Given the description of an element on the screen output the (x, y) to click on. 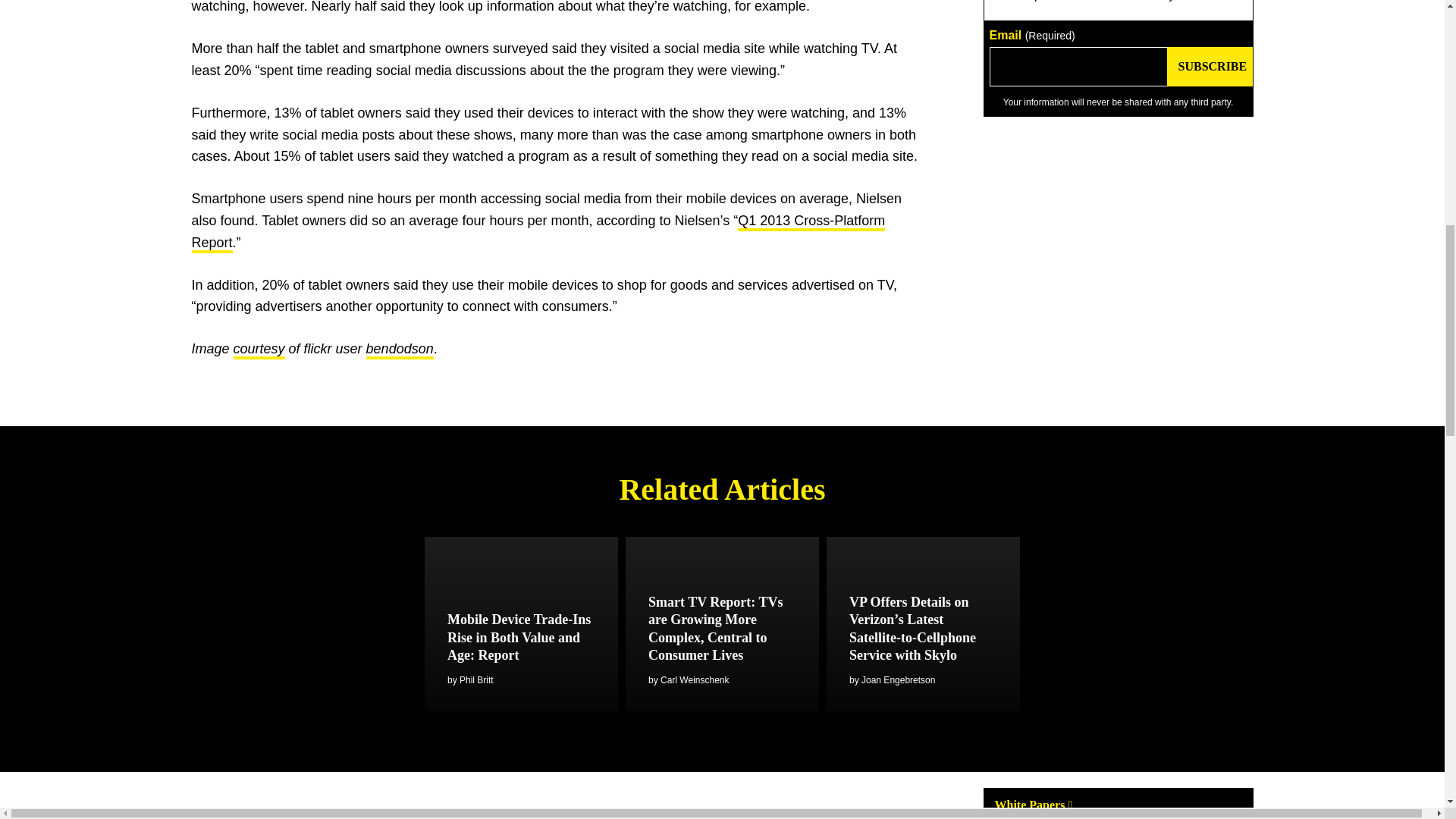
Q1 2013 Cross-Platform Report (537, 232)
bendodson (399, 350)
courtesy (258, 350)
